Given the description of an element on the screen output the (x, y) to click on. 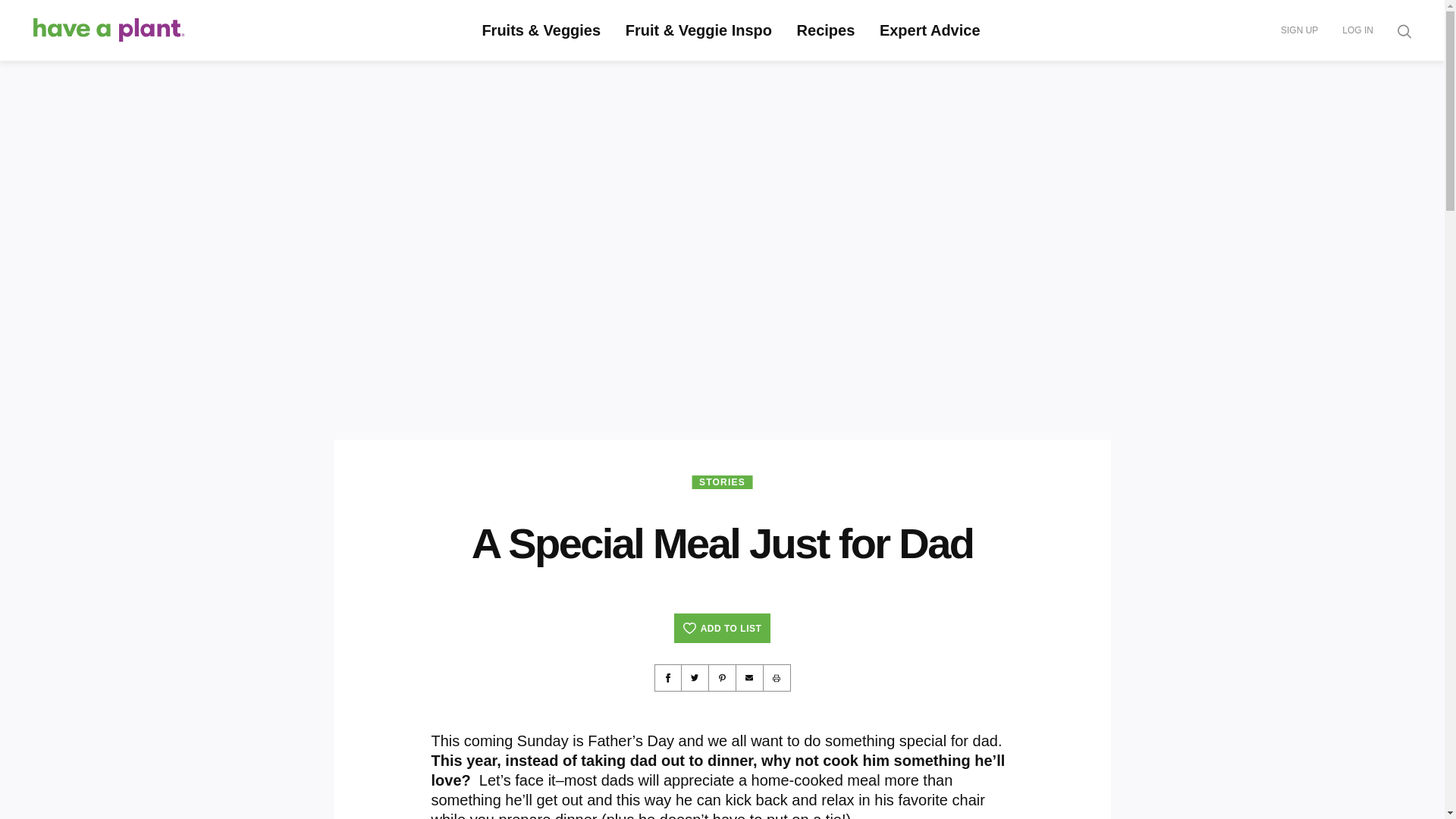
Expert Advice (929, 30)
news (604, 51)
Search (368, 3)
ADD TO LIST (722, 627)
STORIES (721, 481)
Search (368, 2)
recipe (390, 51)
story (458, 51)
Recipes (826, 30)
ingredient (519, 51)
SIGN UP (1299, 30)
LOG IN (1357, 30)
expert-advice (666, 51)
